Given the description of an element on the screen output the (x, y) to click on. 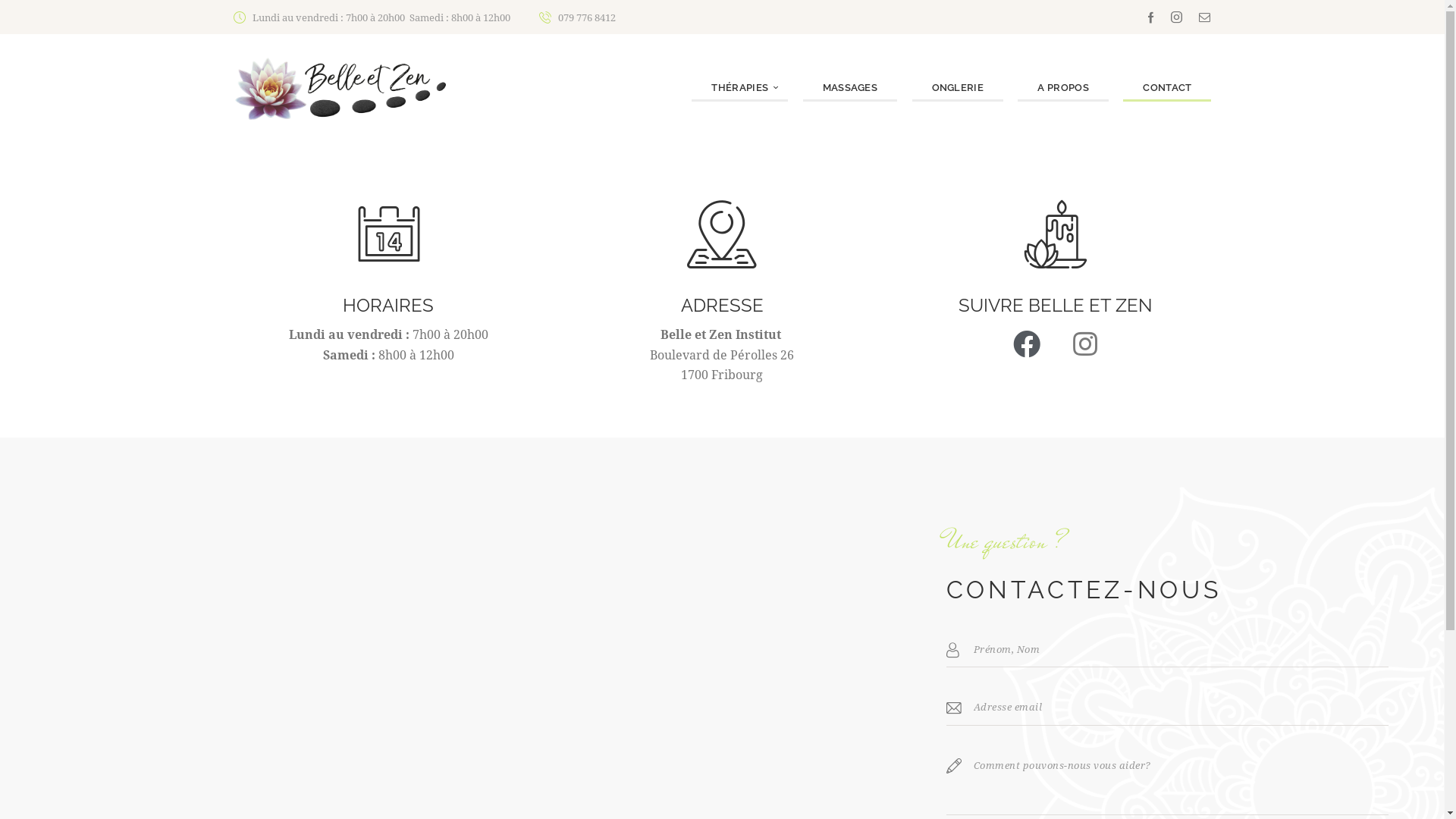
ONGLERIE Element type: text (957, 88)
A PROPOS Element type: text (1062, 88)
079 776 8412 Element type: text (577, 17)
CONTACT Element type: text (1167, 88)
MASSAGES Element type: text (850, 88)
